Given the description of an element on the screen output the (x, y) to click on. 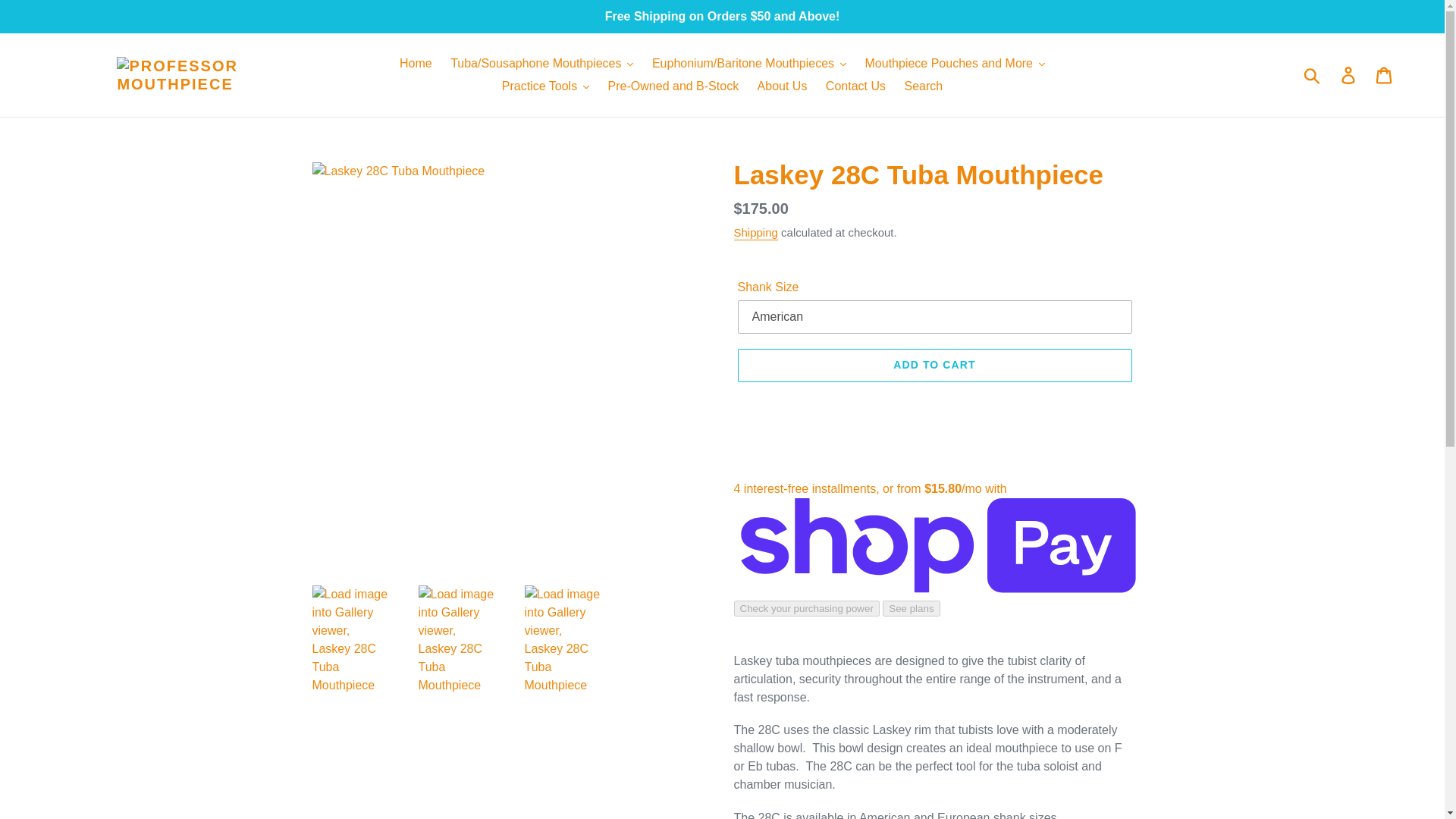
About Us (782, 86)
Search (923, 86)
Log in (1349, 74)
Cart (1385, 74)
Contact Us (855, 86)
Pre-Owned and B-Stock (672, 86)
Home (415, 63)
Submit (1313, 74)
